Given the description of an element on the screen output the (x, y) to click on. 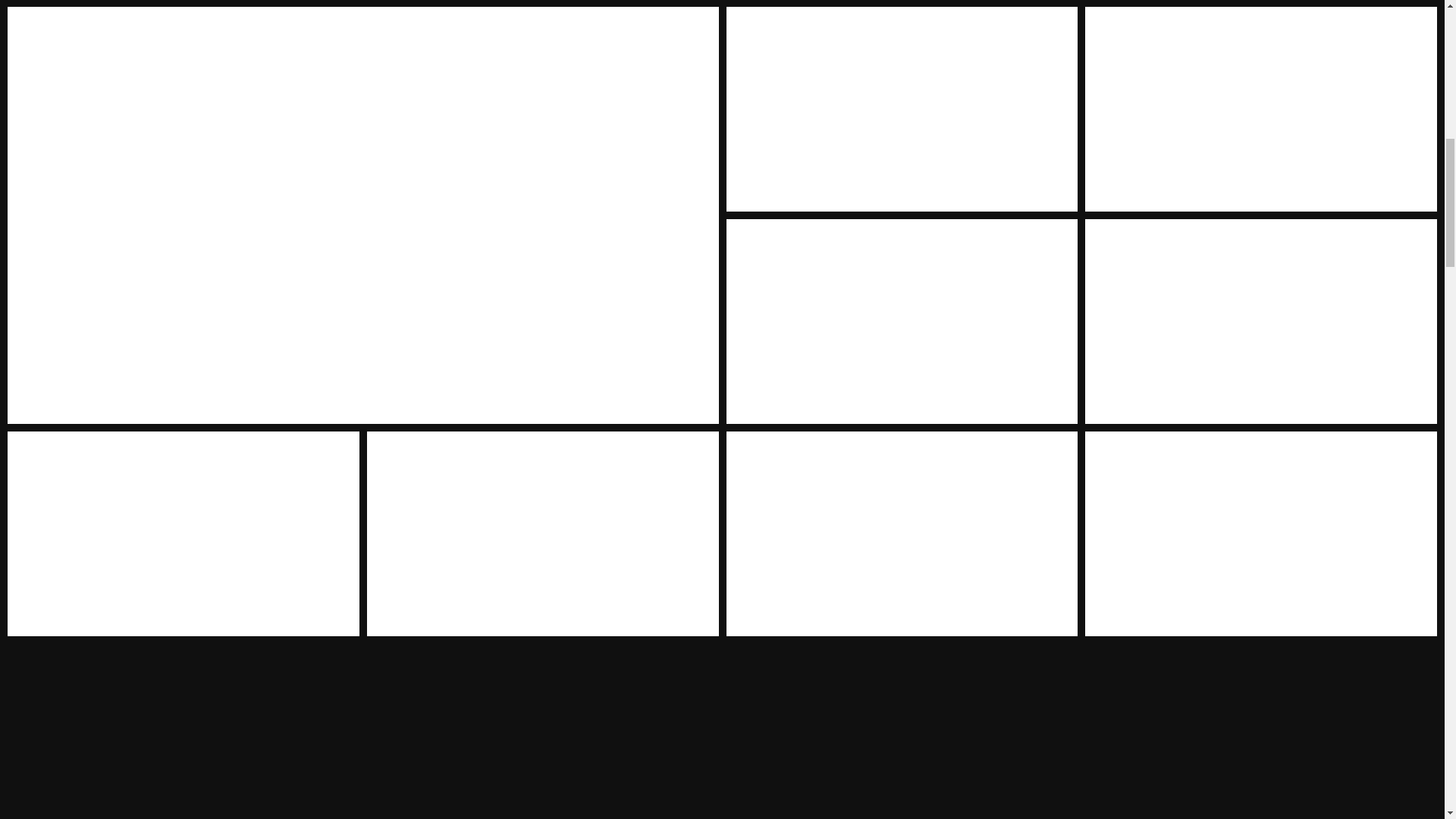
Home 10 (1260, 533)
Home 6 (1260, 321)
Home 8 (542, 533)
Home 7 (183, 533)
Home 3 (902, 108)
Home 4 (1260, 108)
Home 5 (902, 321)
Home 9 (902, 533)
